Given the description of an element on the screen output the (x, y) to click on. 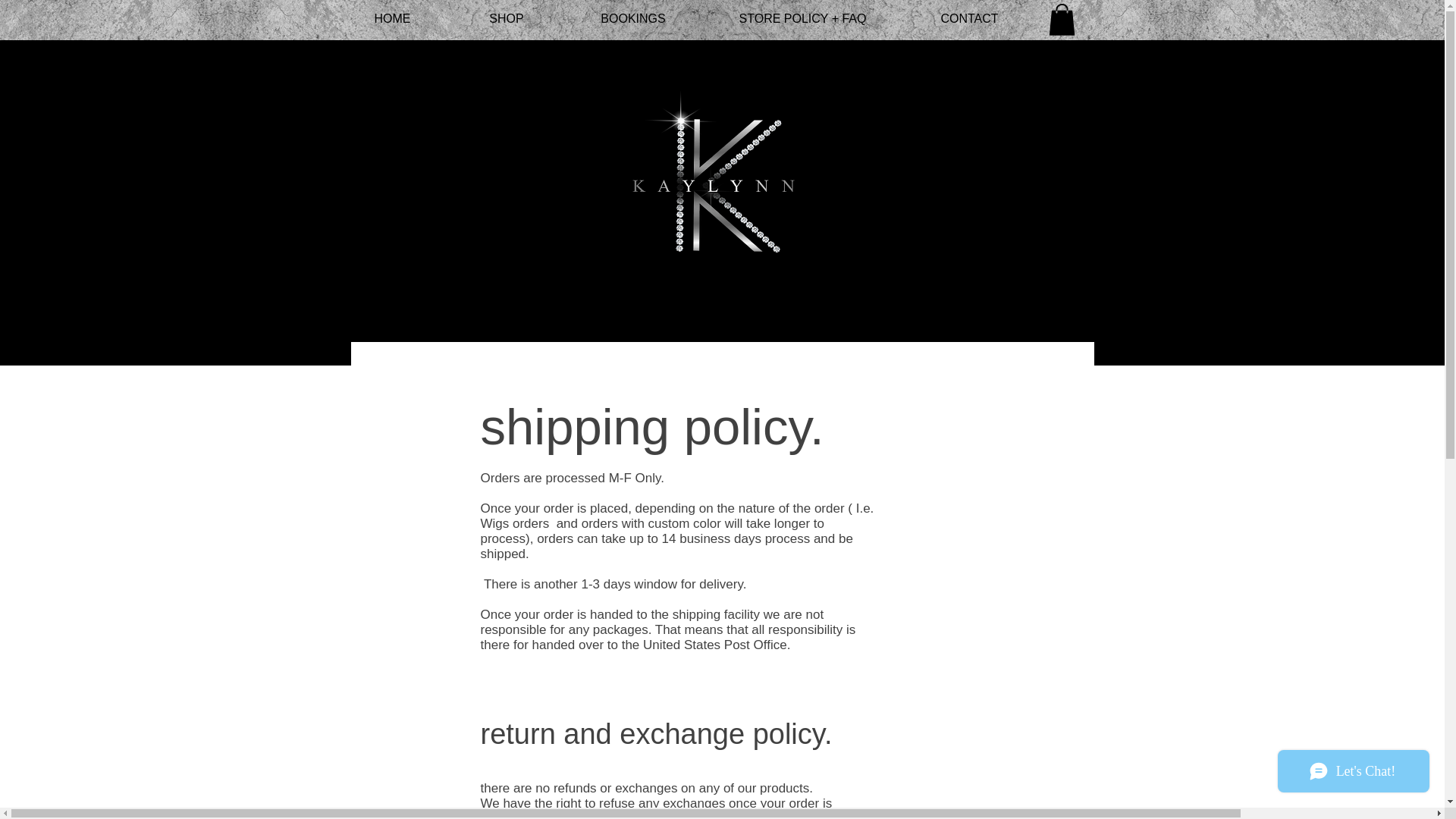
HOME (391, 18)
BOOKINGS (632, 18)
SHOP (506, 18)
CONTACT (969, 18)
Wix Chat (1356, 774)
